Given the description of an element on the screen output the (x, y) to click on. 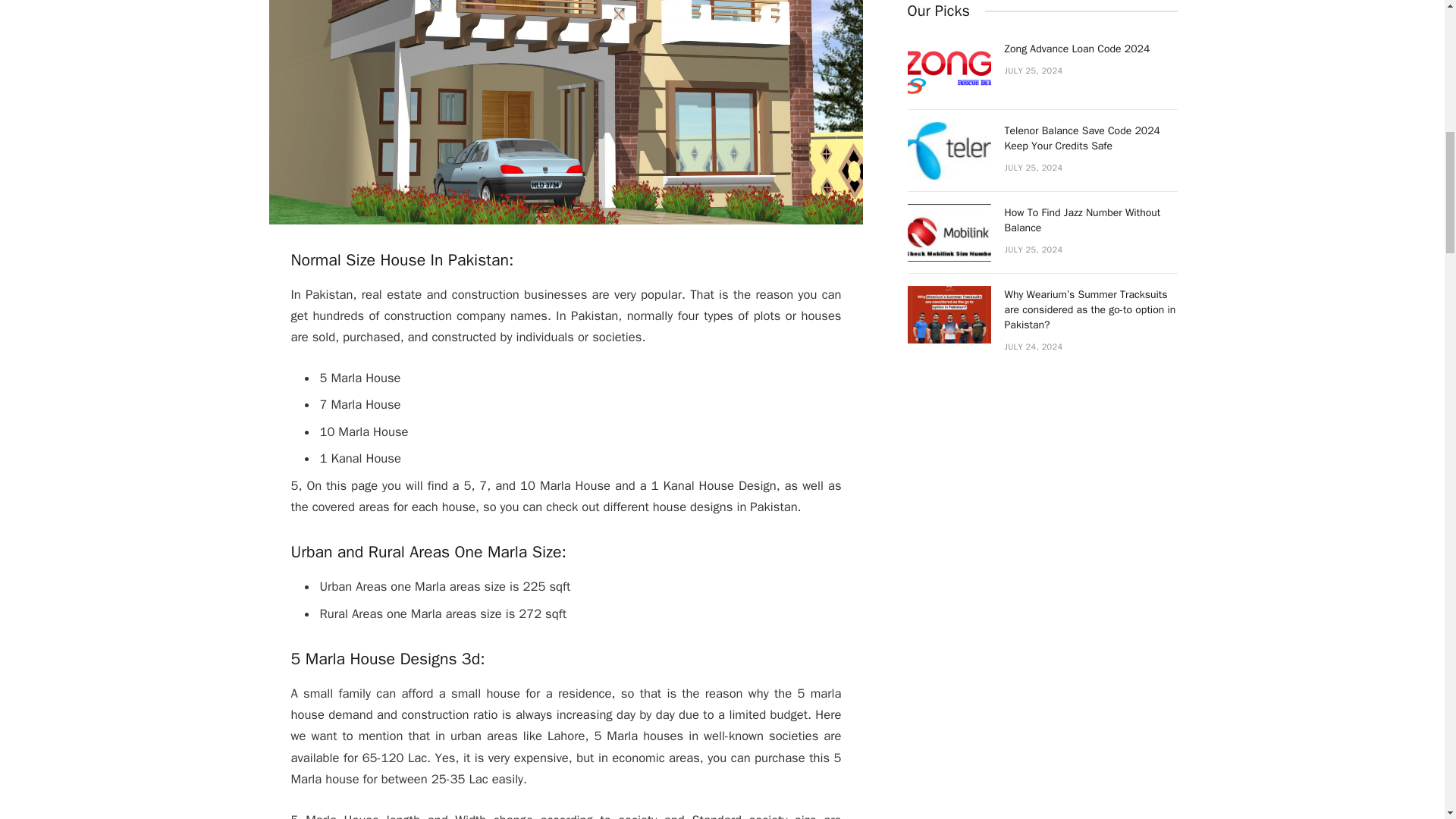
House Designs In Pakistan 1 (566, 112)
